Given the description of an element on the screen output the (x, y) to click on. 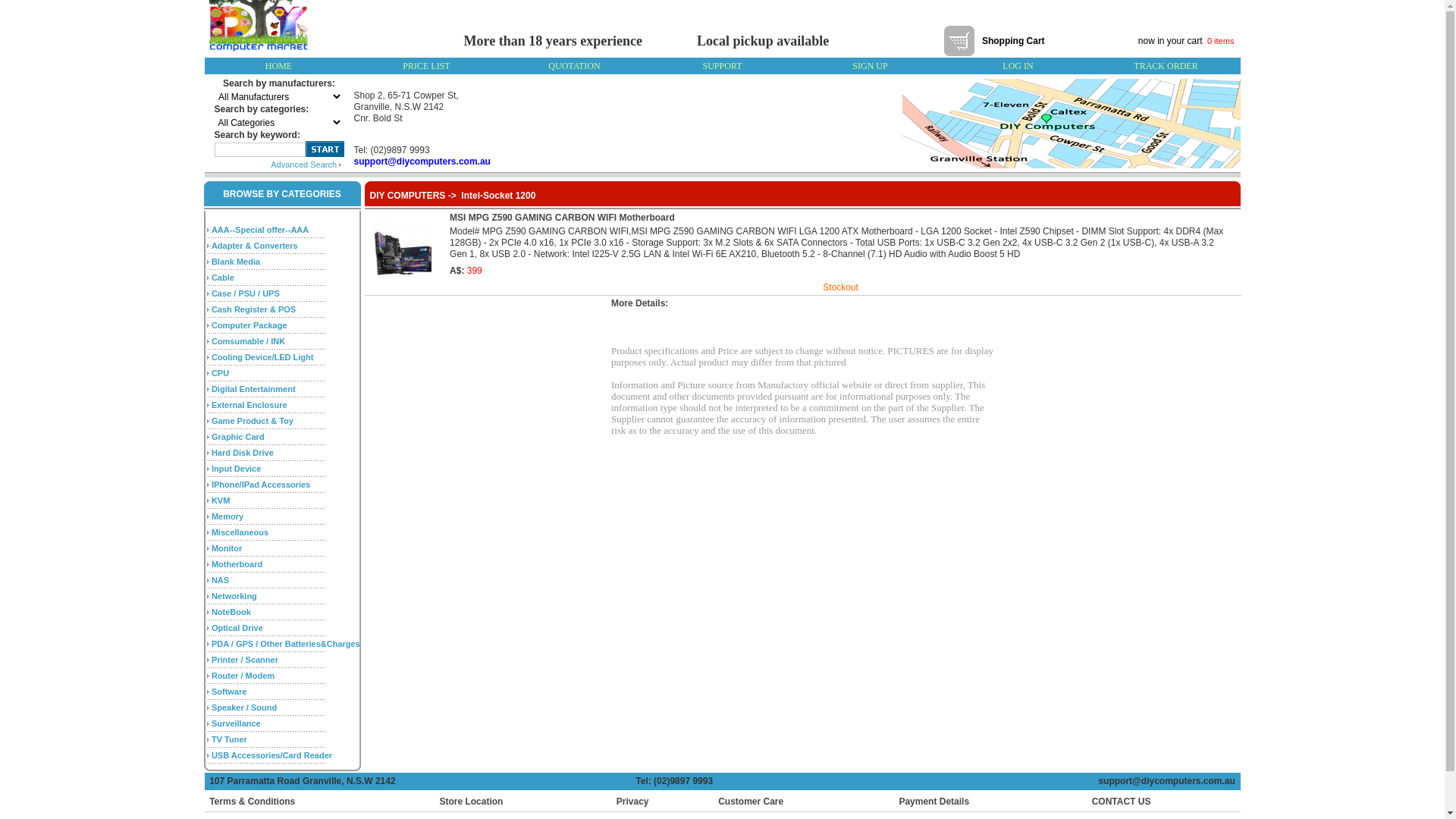
Privacy Element type: text (632, 801)
Miscellaneous Element type: text (239, 531)
QUOTATION Element type: text (573, 65)
Store Location Element type: text (470, 801)
External Enclosure Element type: text (249, 404)
IPhone/IPad Accessories Element type: text (260, 483)
Graphic Card Element type: text (237, 436)
Optical Drive Element type: text (237, 627)
Hard Disk Drive Element type: text (242, 451)
Adapter & Converters Element type: text (254, 245)
TRACK ORDER Element type: text (1165, 65)
Blank Media Element type: text (235, 260)
Game Product & Toy Element type: text (252, 419)
Software Element type: text (228, 691)
Memory Element type: text (227, 515)
Speaker / Sound Element type: text (243, 706)
Payment Details Element type: text (933, 801)
HOME Element type: text (278, 65)
AAA--Special offer--AAA Element type: text (259, 228)
NoteBook Element type: text (231, 610)
Cable Element type: text (222, 277)
CPU Element type: text (220, 372)
Comsumable / INK Element type: text (248, 340)
Router / Modem Element type: text (242, 674)
Cash Register & POS Element type: text (253, 308)
Monitor Element type: text (226, 547)
Cooling Device/LED Light Element type: text (262, 355)
PRICE LIST Element type: text (425, 65)
SUPPORT Element type: text (722, 65)
Surveillance Element type: text (235, 723)
Digital Entertainment Element type: text (253, 387)
Printer / Scanner Element type: text (244, 659)
LOG IN Element type: text (1017, 65)
0 items   Element type: text (1221, 40)
Networking Element type: text (234, 595)
Case / PSU / UPS Element type: text (245, 292)
TV Tuner Element type: text (229, 738)
USB Accessories/Card Reader Element type: text (271, 754)
Input Device Element type: text (235, 468)
Computer Package Element type: text (249, 324)
support@diycomputers.com.au   Element type: text (1168, 780)
Motherboard Element type: text (236, 563)
Advanced Search Element type: text (305, 163)
Terms & Conditions Element type: text (251, 801)
NAS Element type: text (220, 578)
  CONTACT US Element type: text (1118, 801)
Customer Care Element type: text (750, 801)
support@diycomputers.com.au Element type: text (421, 161)
PDA / GPS / Other Batteries&Charges Element type: text (285, 642)
KVM Element type: text (220, 500)
DIY COMPUTERS Element type: text (407, 195)
SIGN UP Element type: text (869, 65)
